Given the description of an element on the screen output the (x, y) to click on. 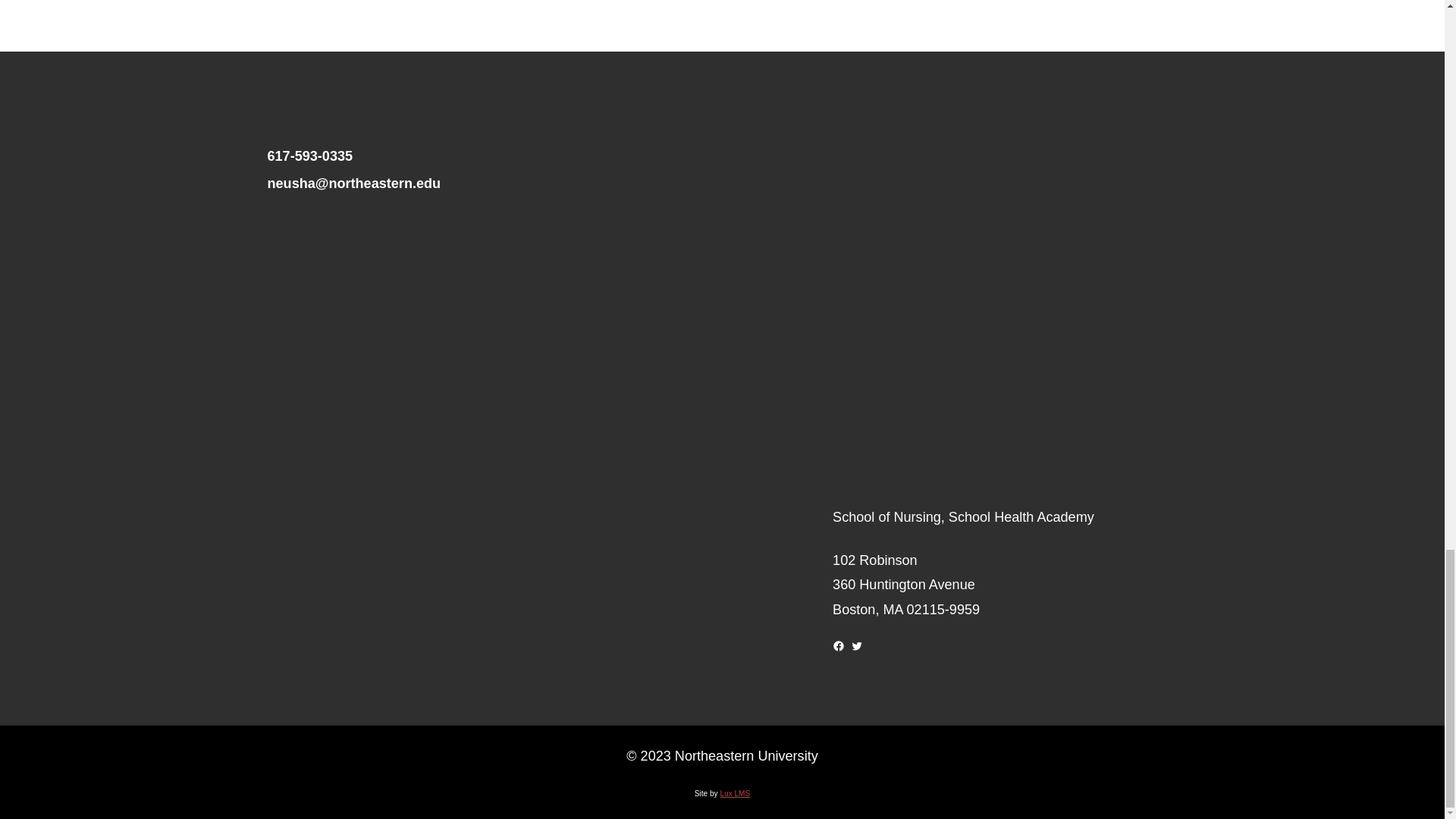
Twitter (856, 645)
Lux LMS (734, 793)
Facebook (838, 645)
